Given the description of an element on the screen output the (x, y) to click on. 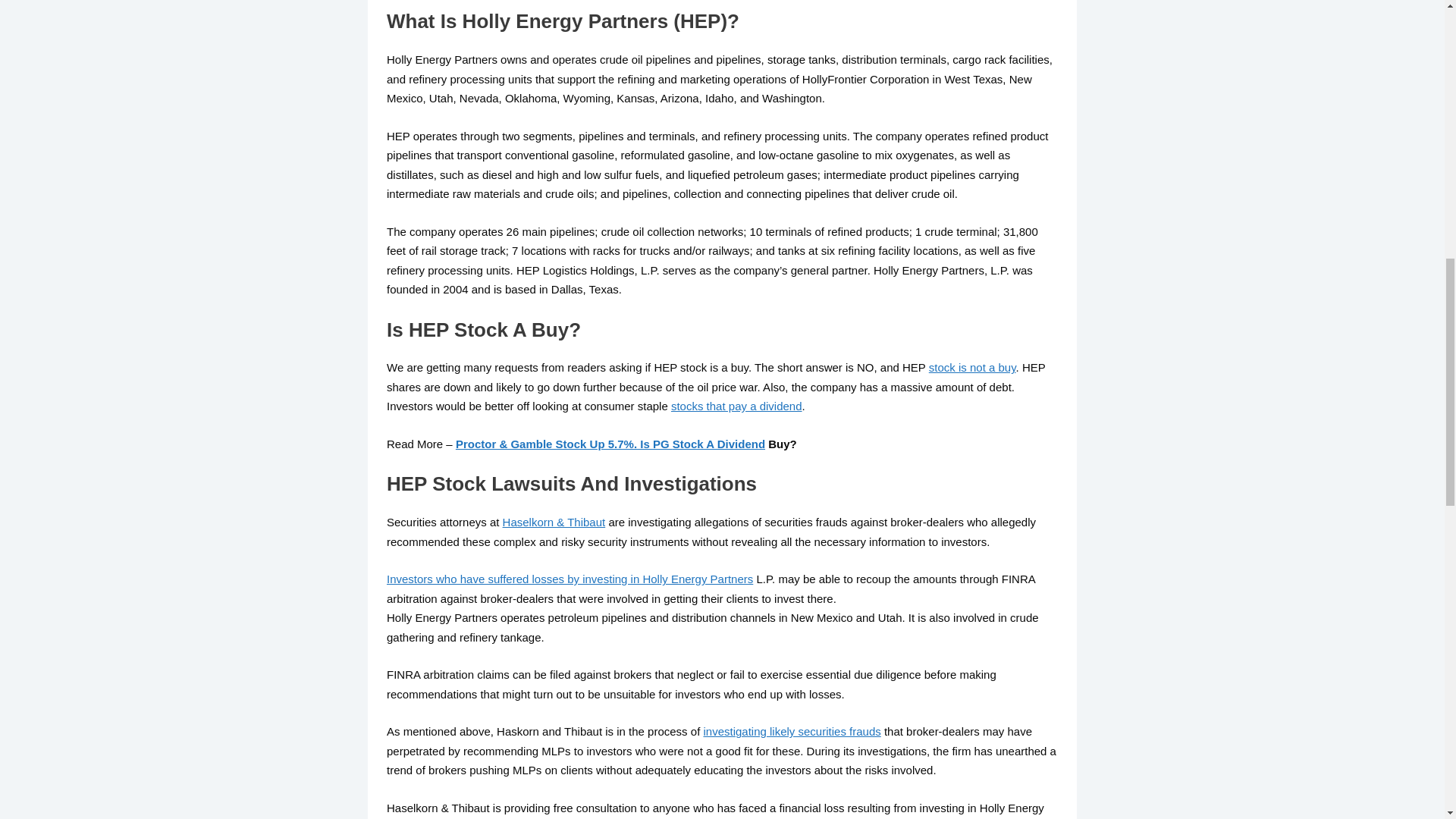
stocks that pay a dividend (736, 405)
investigating likely securities frauds (791, 730)
stock is not a buy (972, 367)
Stock A Dividend (718, 443)
